Given the description of an element on the screen output the (x, y) to click on. 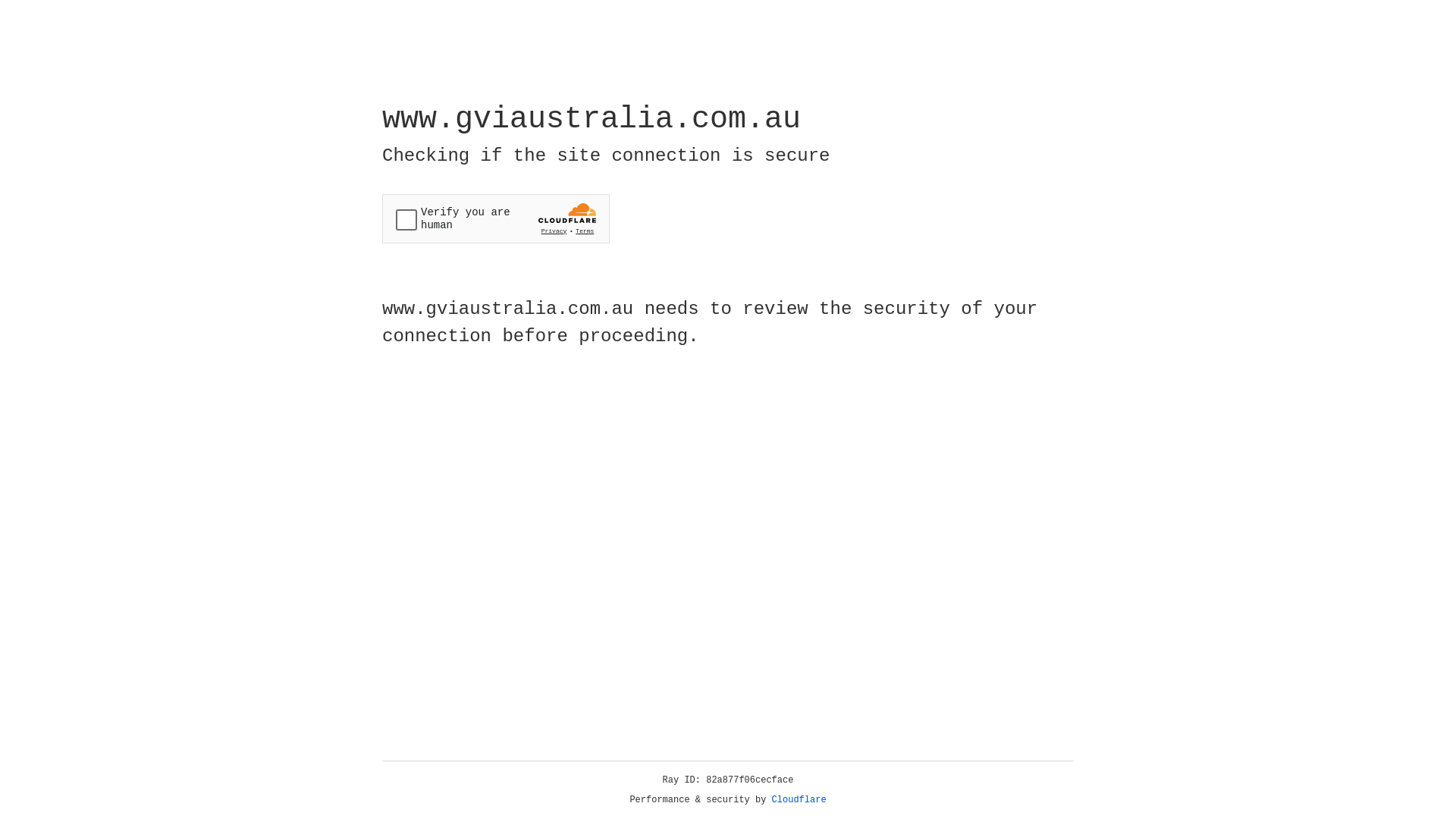
Widget containing a Cloudflare security challenge Element type: hover (495, 218)
Cloudflare Element type: text (798, 799)
